Given the description of an element on the screen output the (x, y) to click on. 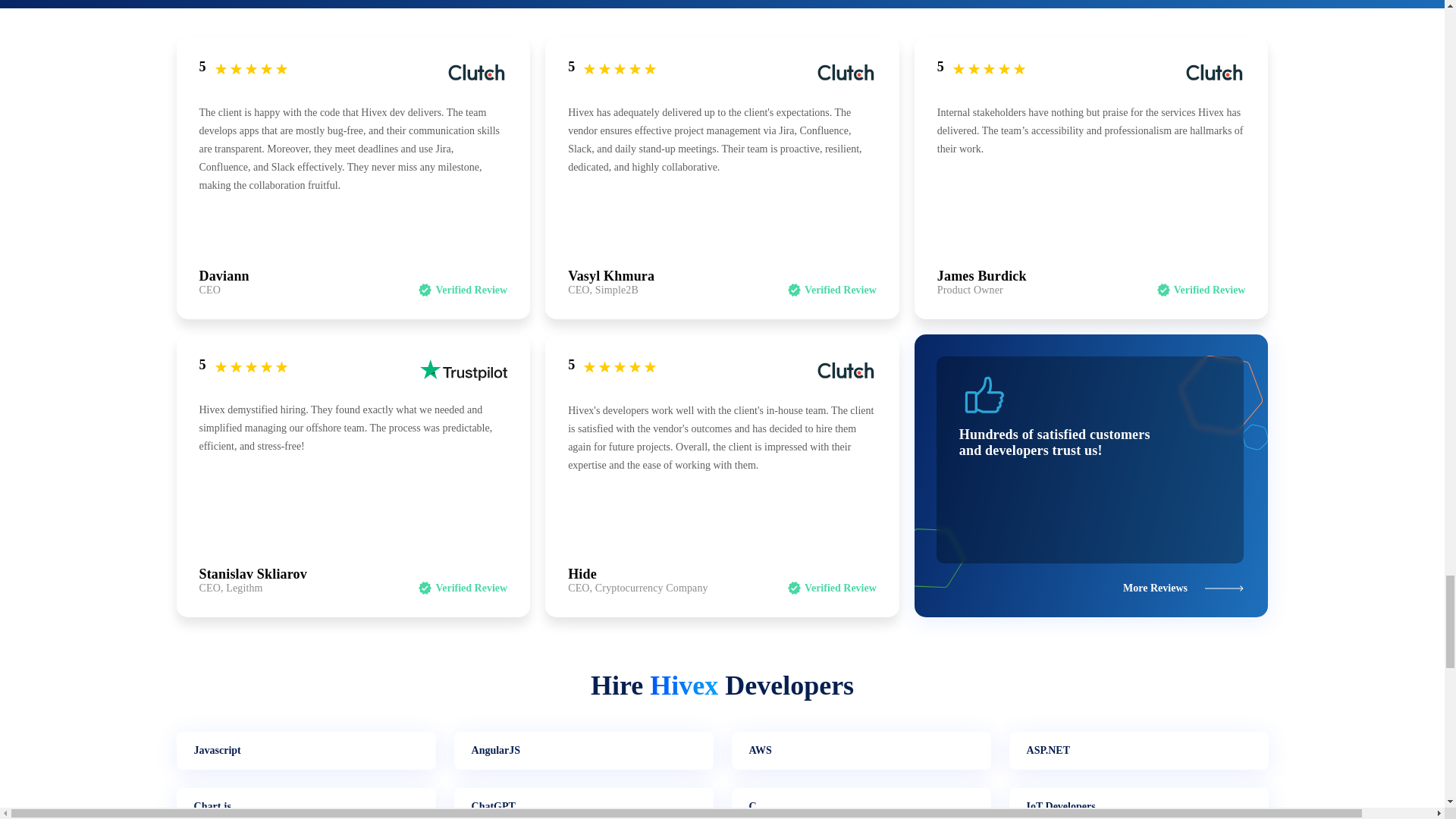
C (860, 803)
AWS (860, 750)
AngularJS (582, 750)
IoT Developers (1138, 803)
ASP.NET (1138, 750)
Chart.js (305, 803)
ChatGPT (582, 803)
More Reviews (1182, 587)
Javascript (305, 750)
